Given the description of an element on the screen output the (x, y) to click on. 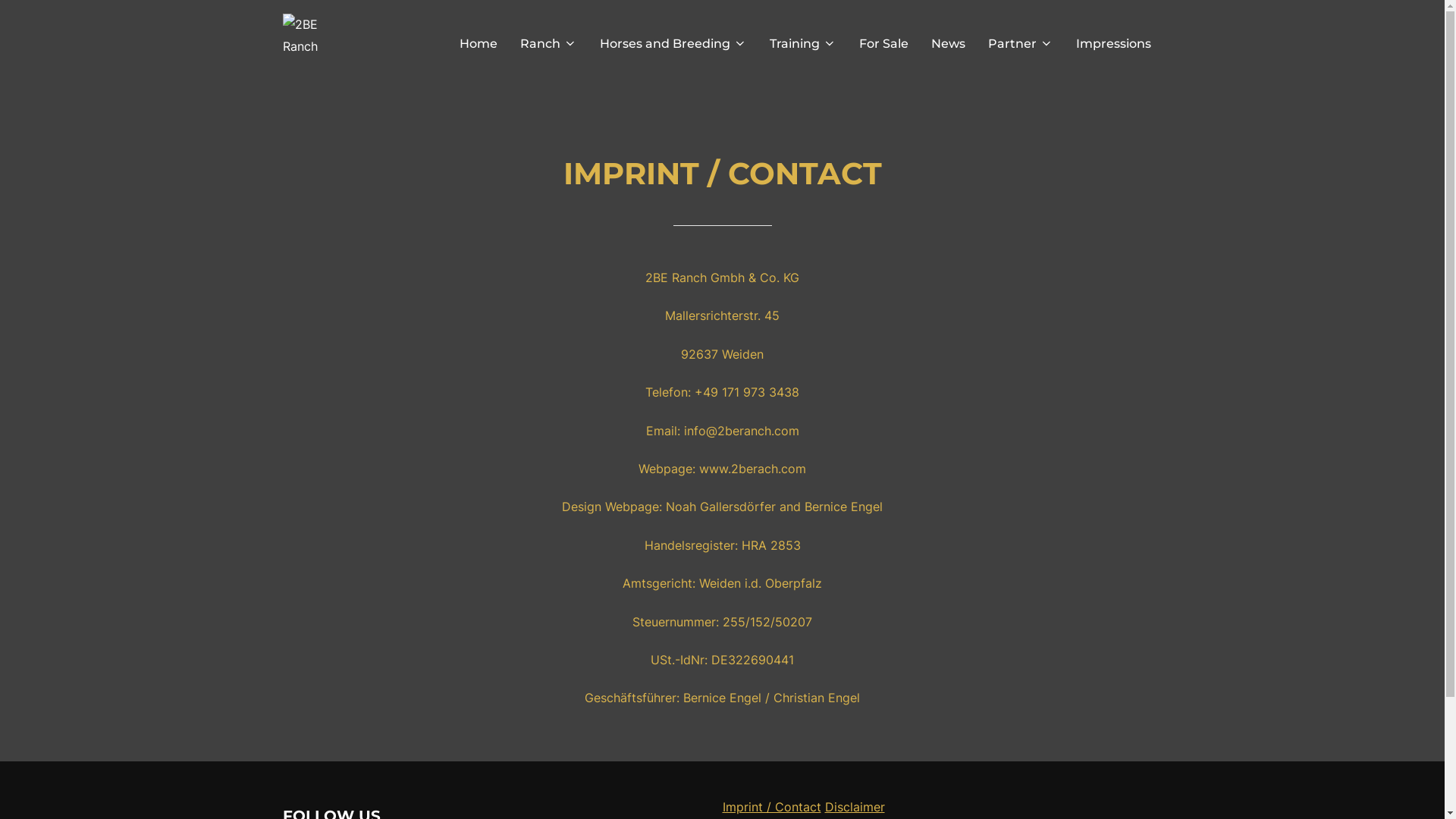
News Element type: text (948, 43)
Partner Element type: text (1019, 43)
Disclaimer Element type: text (854, 806)
Horses and Breeding Element type: text (672, 43)
Imprint / Contact Element type: text (770, 806)
Home Element type: text (478, 43)
Impressions Element type: text (1112, 43)
Training Element type: text (801, 43)
Ranch Element type: text (548, 43)
For Sale Element type: text (882, 43)
